Given the description of an element on the screen output the (x, y) to click on. 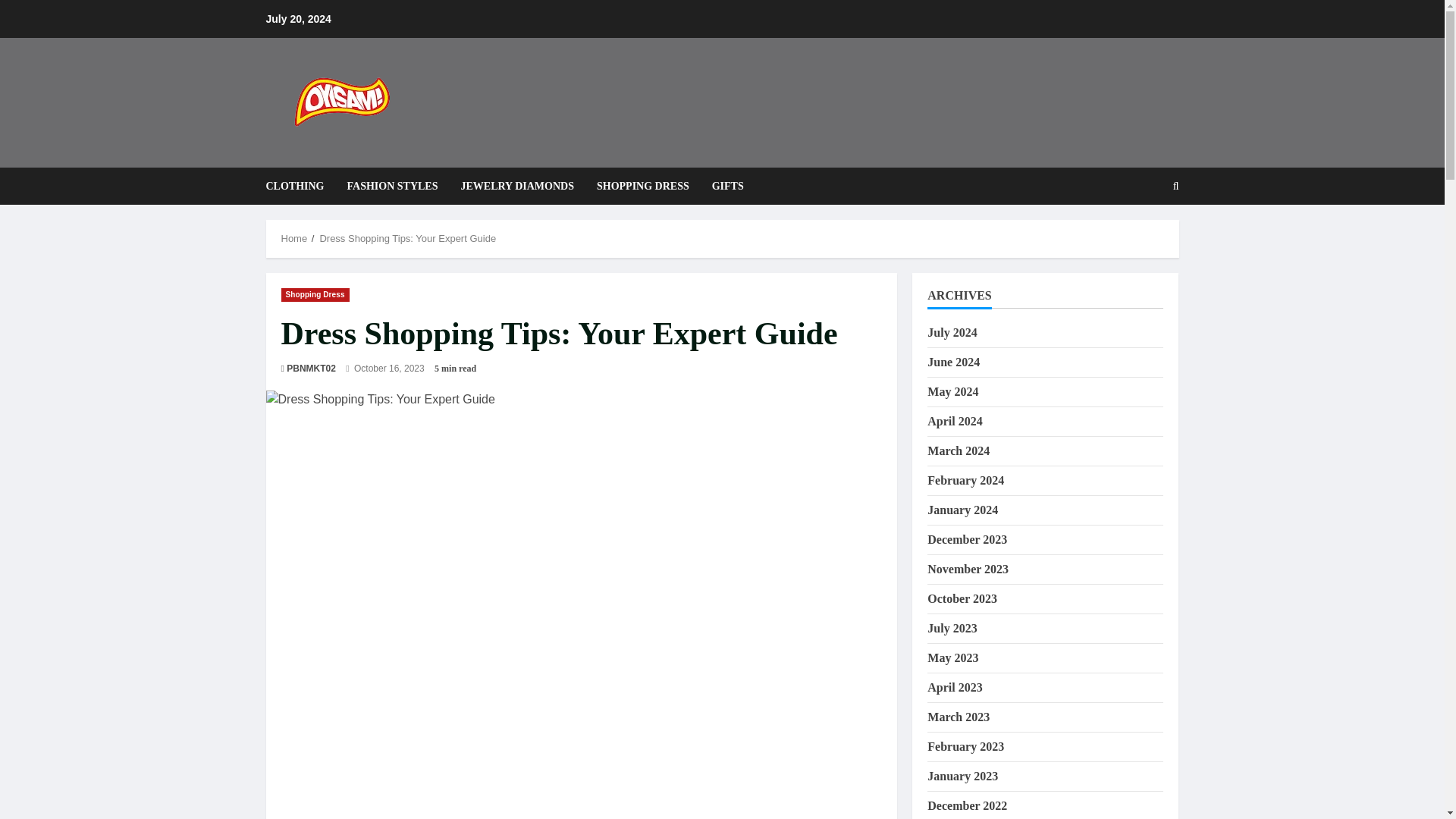
April 2024 (954, 420)
FASHION STYLES (392, 185)
Dress Shopping Tips: Your Expert Guide (407, 238)
June 2024 (953, 361)
July 2023 (951, 627)
Shopping Dress (315, 295)
March 2024 (958, 450)
SHOPPING DRESS (642, 185)
January 2024 (962, 509)
Search (1139, 237)
November 2023 (968, 568)
PBNMKT02 (311, 368)
April 2023 (954, 686)
May 2023 (952, 657)
